Given the description of an element on the screen output the (x, y) to click on. 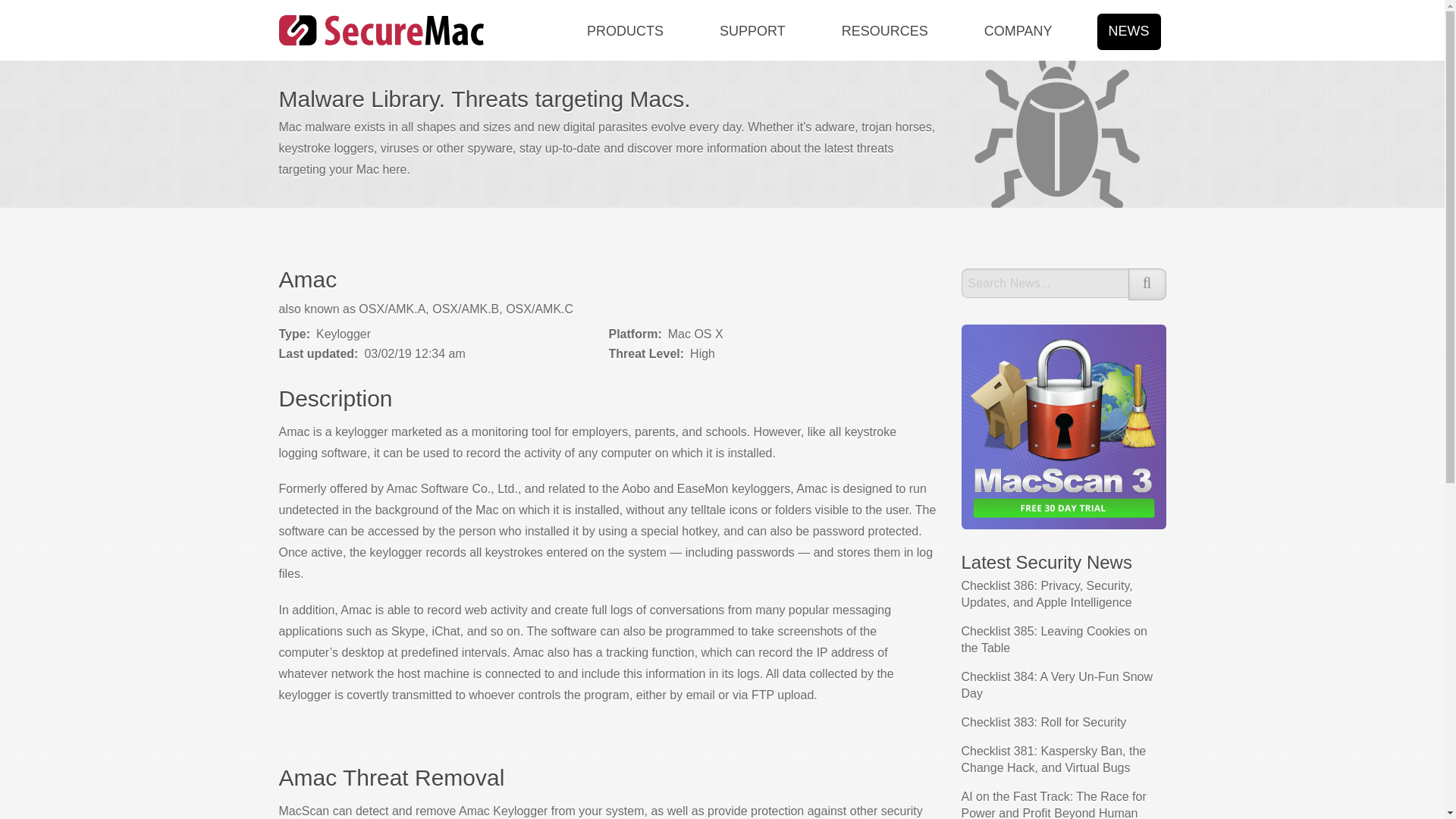
Checklist 385: Leaving Cookies on the Table (1053, 639)
Checklist 383: Roll for Security (1043, 721)
Search News (1044, 283)
NEWS (1123, 30)
Checklist 384: A Very Un-Fun Snow Day (1056, 685)
